Given the description of an element on the screen output the (x, y) to click on. 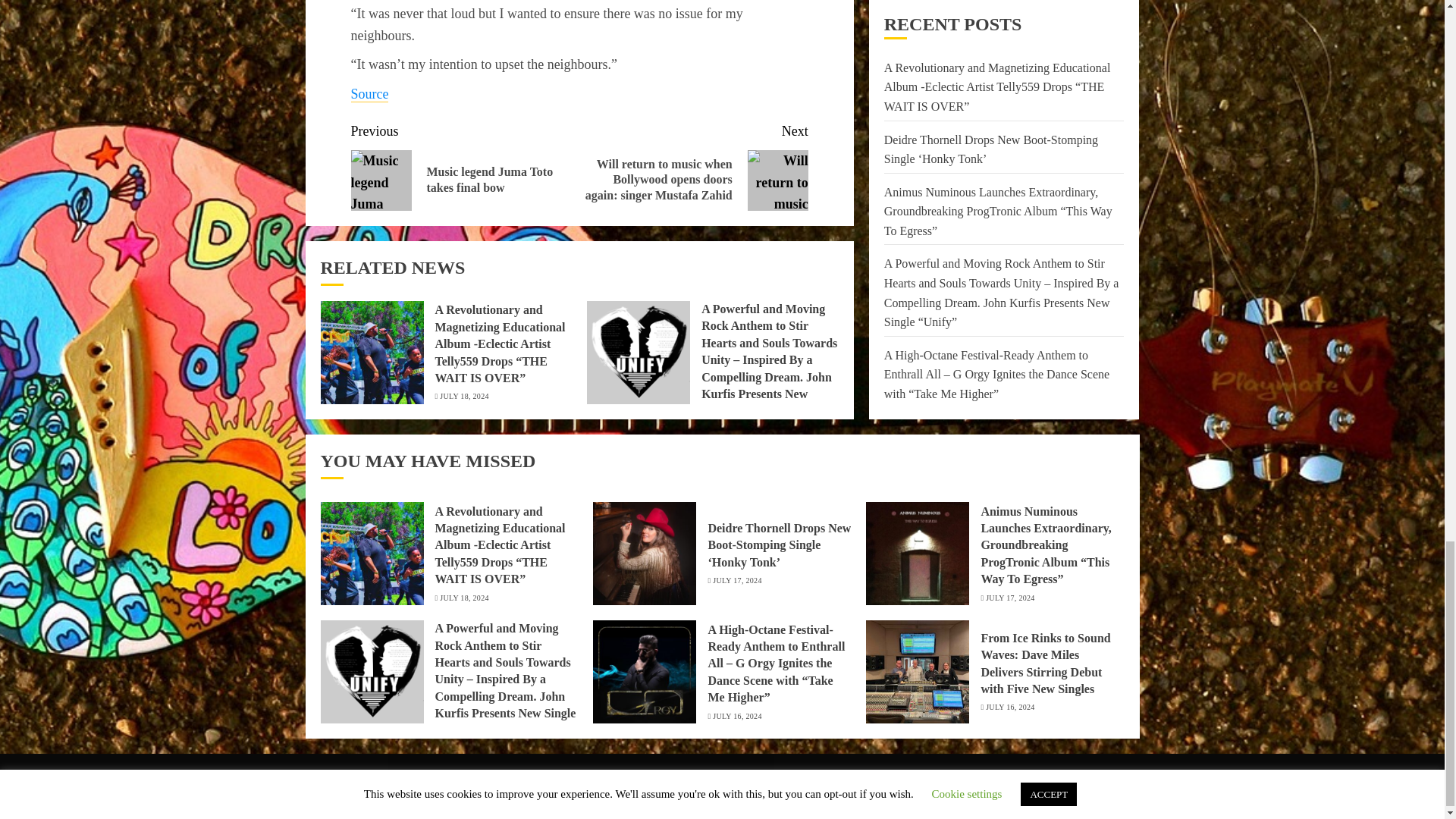
JULY 17, 2024 (1009, 597)
JULY 18, 2024 (463, 597)
JULY 17, 2024 (737, 580)
JULY 18, 2024 (463, 396)
Music legend Juma Toto takes final bow (380, 179)
Source (369, 94)
